Given the description of an element on the screen output the (x, y) to click on. 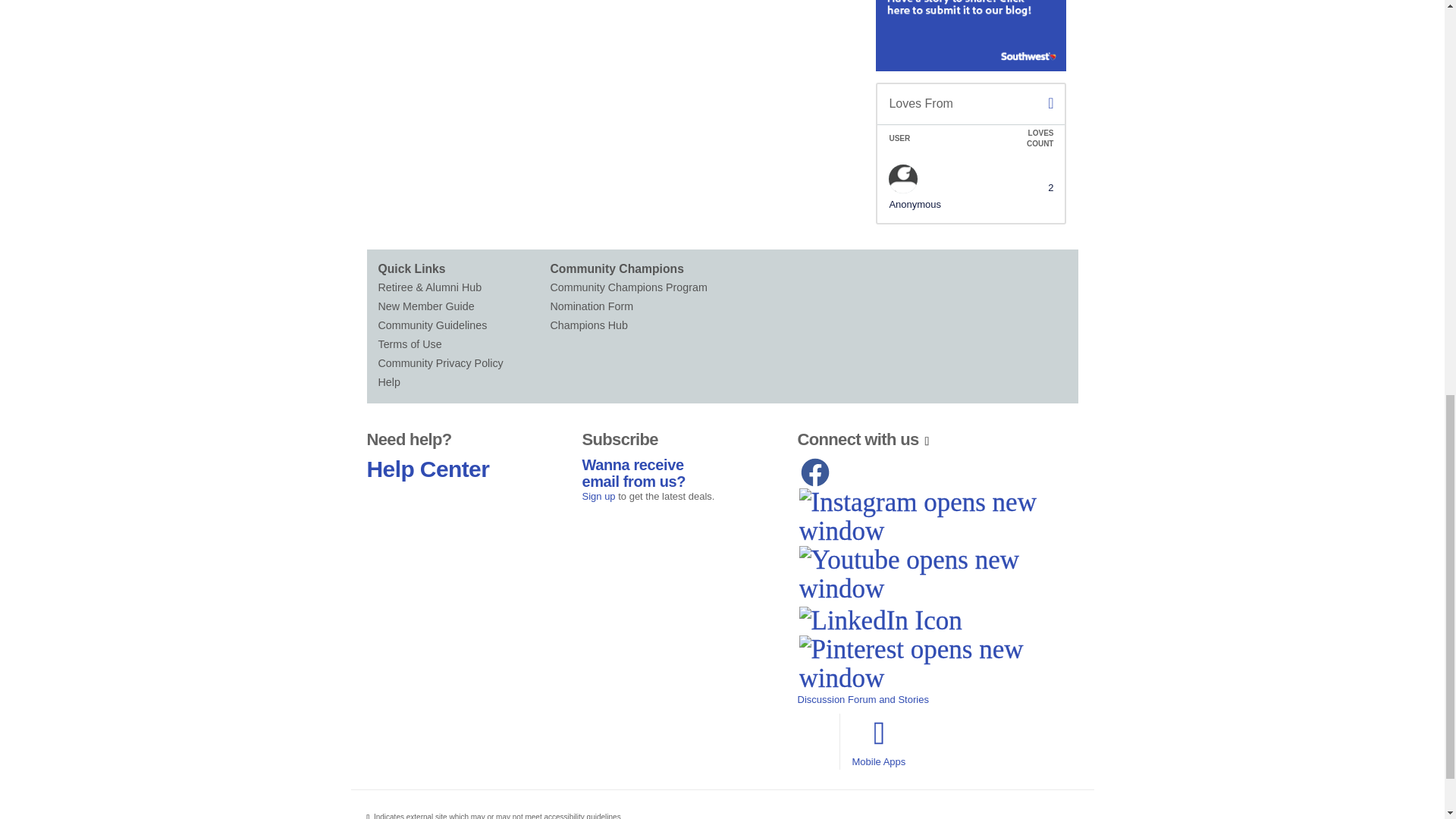
New Member Guide (463, 306)
Community Privacy Policy (463, 363)
Terms of Use (463, 343)
Community Guidelines (463, 325)
